Given the description of an element on the screen output the (x, y) to click on. 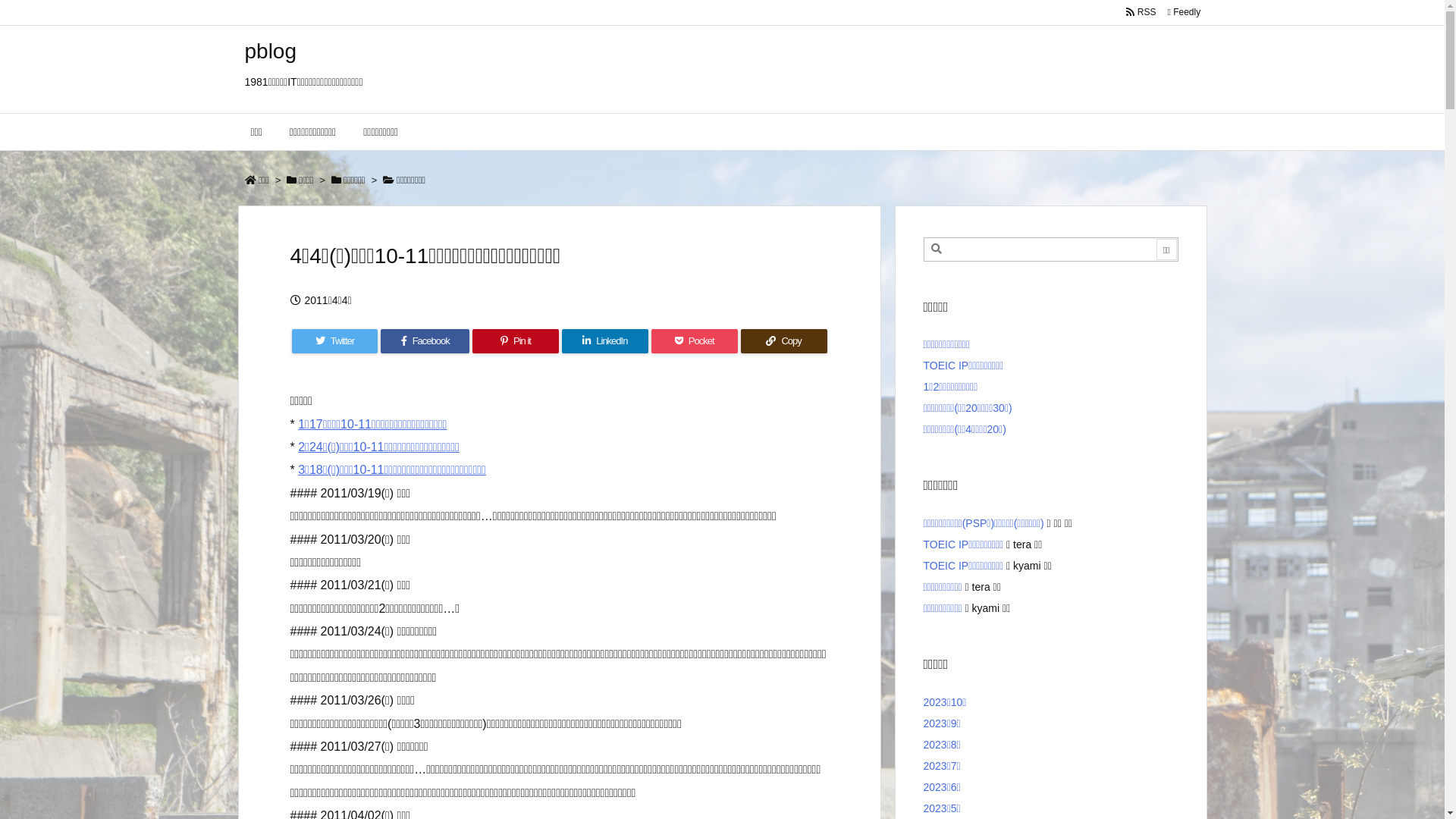
Pocket Element type: text (694, 341)
Twitter Element type: text (334, 341)
pblog Element type: text (270, 50)
  Feedly  Element type: text (1183, 11)
LinkedIn Element type: text (604, 341)
Pin it Element type: text (515, 341)
Facebook Element type: text (424, 341)
Copy Element type: text (783, 341)
  RSS  Element type: text (1140, 11)
